Given the description of an element on the screen output the (x, y) to click on. 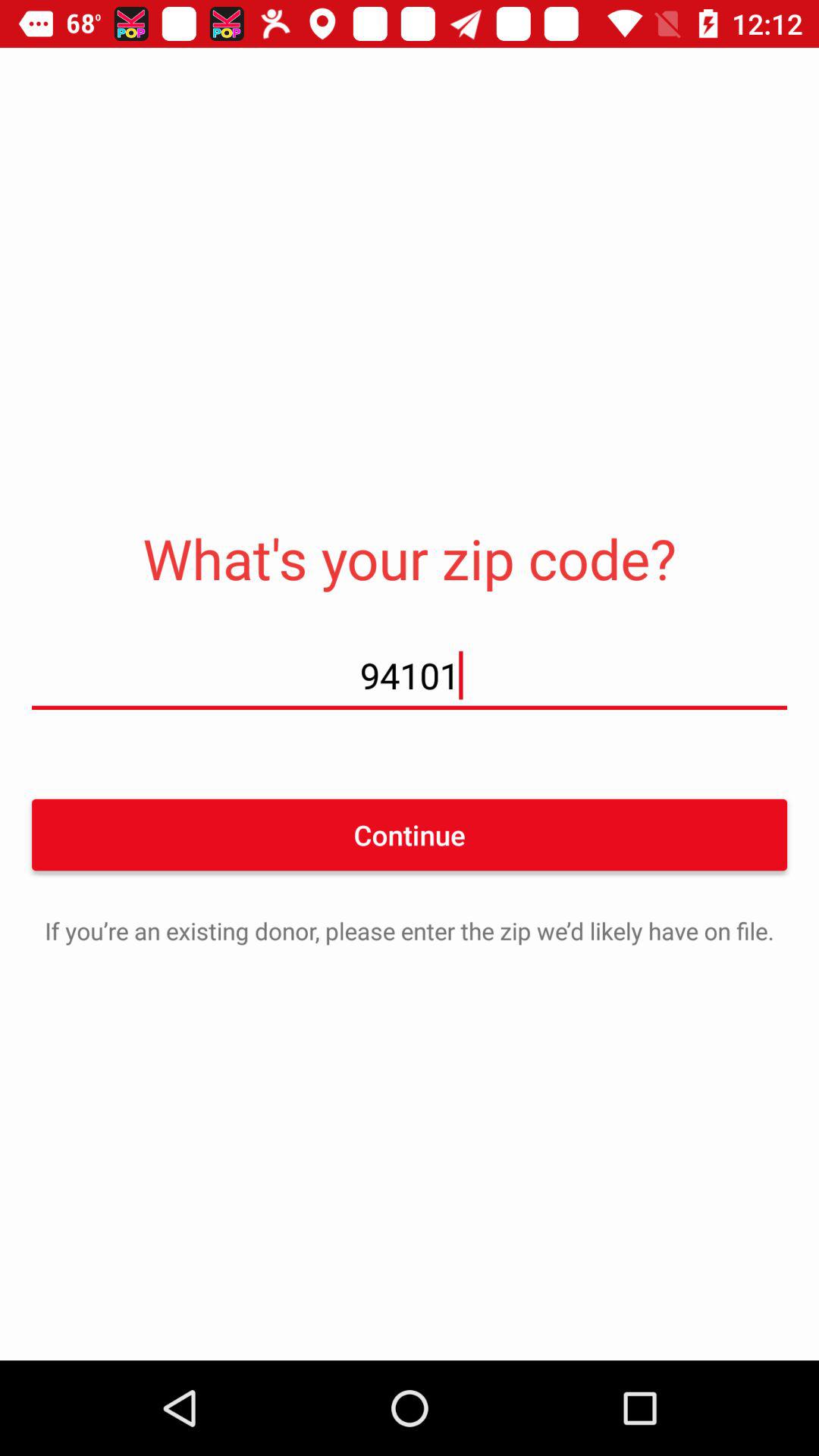
click item below 94101 item (409, 834)
